Given the description of an element on the screen output the (x, y) to click on. 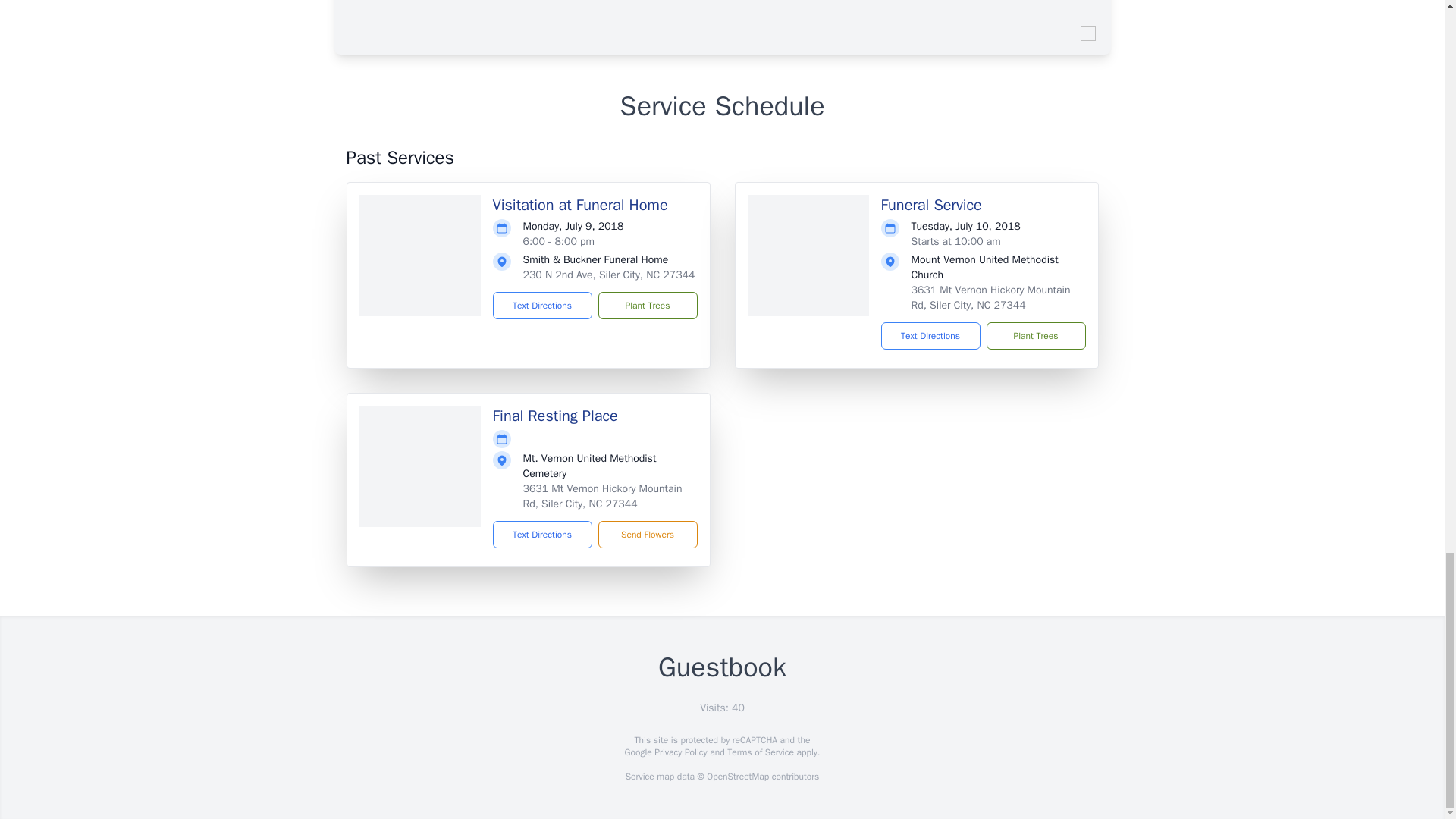
Text Directions (542, 533)
Plant Trees (646, 305)
OpenStreetMap (737, 776)
Text Directions (929, 335)
230 N 2nd Ave, Siler City, NC 27344 (608, 274)
Plant Trees (1034, 335)
3631 Mt Vernon Hickory Mountain Rd, Siler City, NC 27344 (990, 297)
Text Directions (542, 305)
Privacy Policy (679, 752)
3631 Mt Vernon Hickory Mountain Rd, Siler City, NC 27344 (602, 496)
Send Flowers (646, 533)
Terms of Service (759, 752)
